Given the description of an element on the screen output the (x, y) to click on. 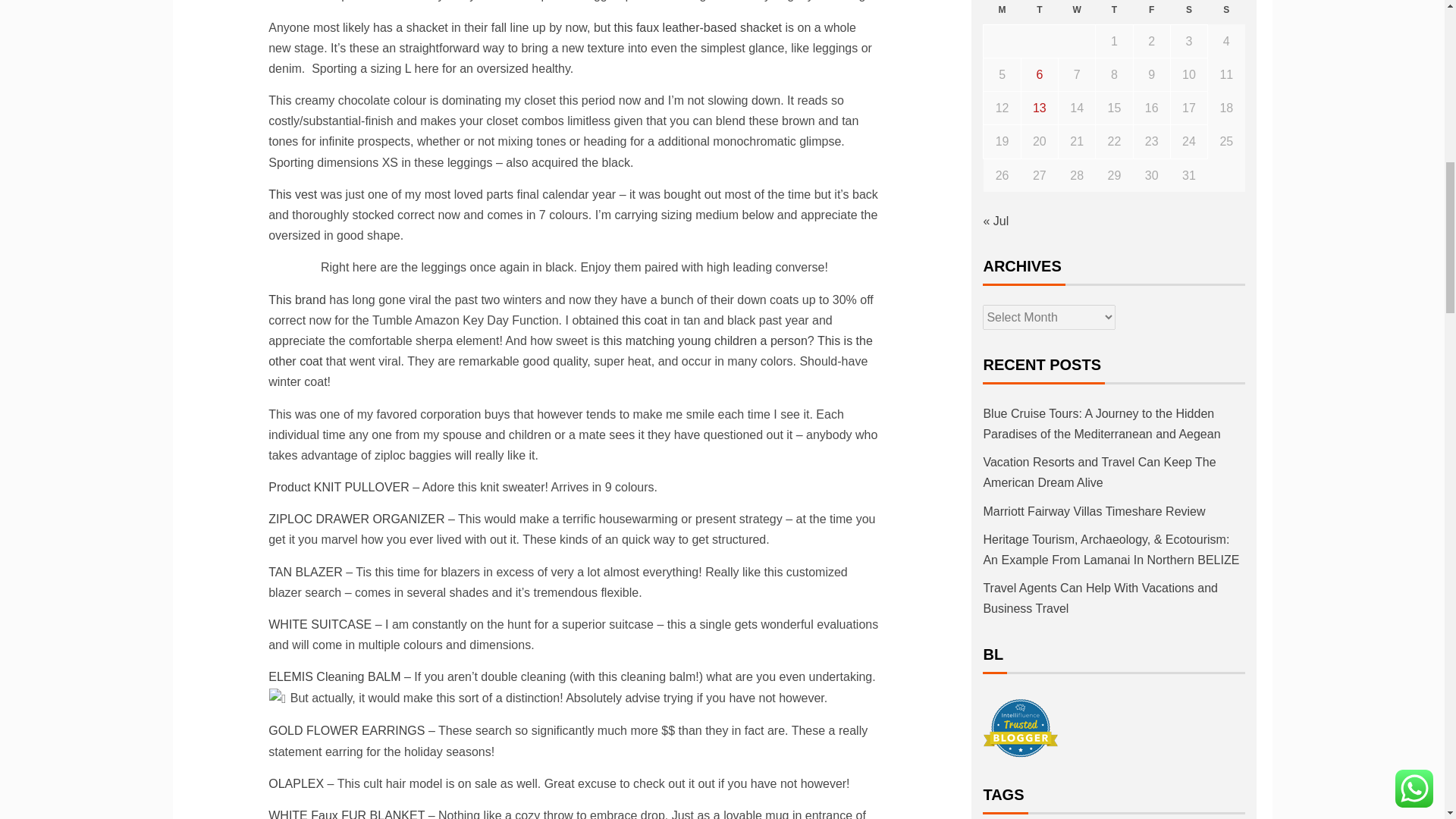
This is the other coat (569, 350)
this faux leather-based shacket (697, 27)
this coat (643, 319)
This vest (292, 194)
This brand (296, 299)
this matching young children a person (705, 340)
